Given the description of an element on the screen output the (x, y) to click on. 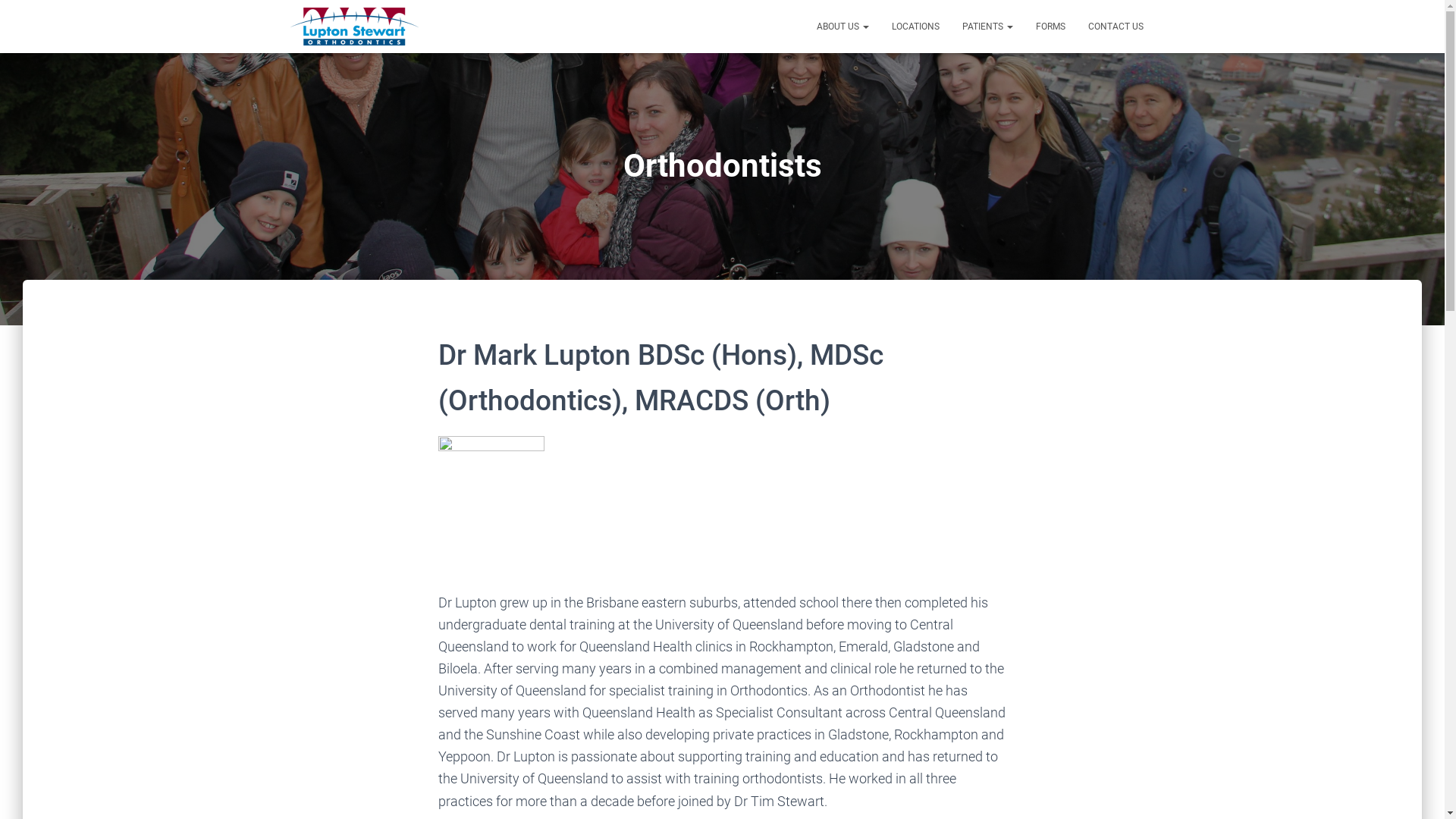
FORMS Element type: text (1049, 26)
Lupton Stewart Orthodontics Element type: hover (354, 26)
CONTACT US Element type: text (1115, 26)
ABOUT US Element type: text (842, 26)
PATIENTS Element type: text (987, 26)
LOCATIONS Element type: text (914, 26)
